Given the description of an element on the screen output the (x, y) to click on. 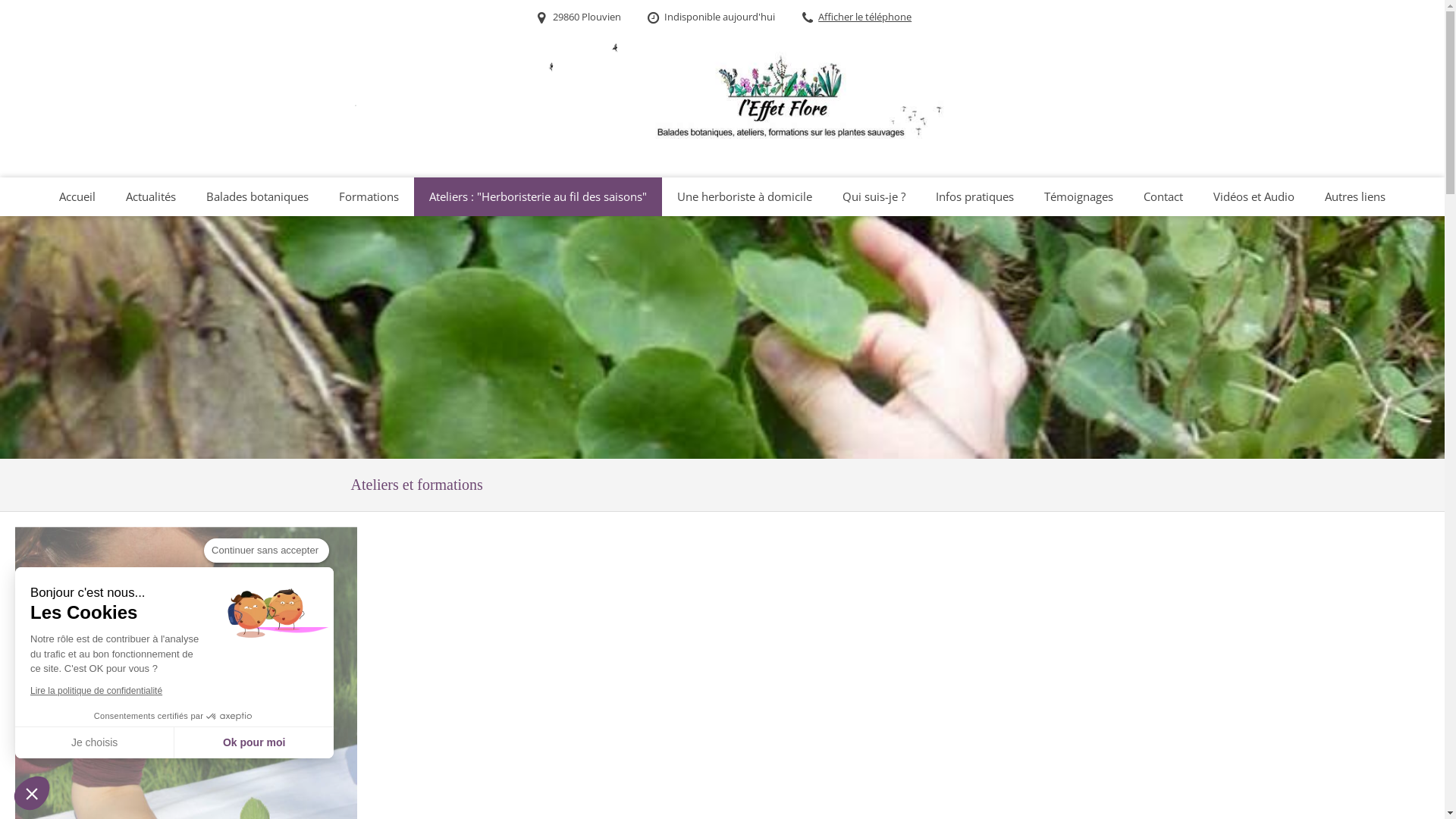
Contact Element type: text (1163, 196)
Ok pour moi Element type: text (253, 742)
Autres liens Element type: text (1354, 196)
Je choisis Element type: text (94, 742)
Ateliers : "Herboristerie au fil des saisons" Element type: text (538, 196)
Balades botaniques Element type: text (257, 196)
Infos pratiques Element type: text (974, 196)
Qui suis-je ? Element type: text (873, 196)
Formations Element type: text (368, 196)
Fermer le widget sans consentement Element type: hover (31, 793)
Accueil Element type: text (76, 196)
Phytologue - Herboriste Brest 29200 | Florence  Creachcadec Element type: hover (355, 104)
